Given the description of an element on the screen output the (x, y) to click on. 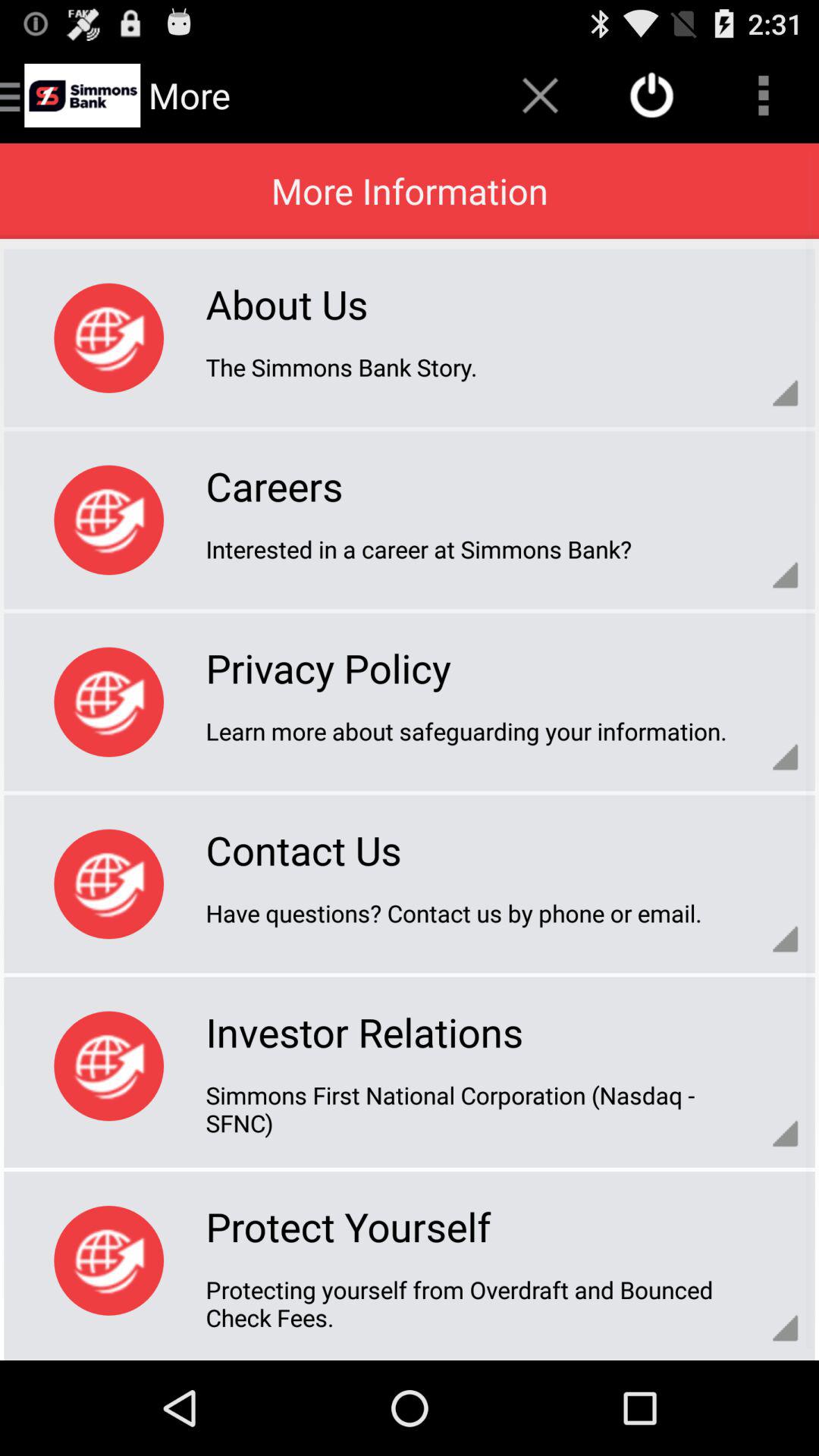
click on the option which is beside carers (108, 520)
select the icon which indicates protect yourself  (108, 1260)
select the cross icon (540, 95)
click the icon left of the text called about (108, 338)
